Given the description of an element on the screen output the (x, y) to click on. 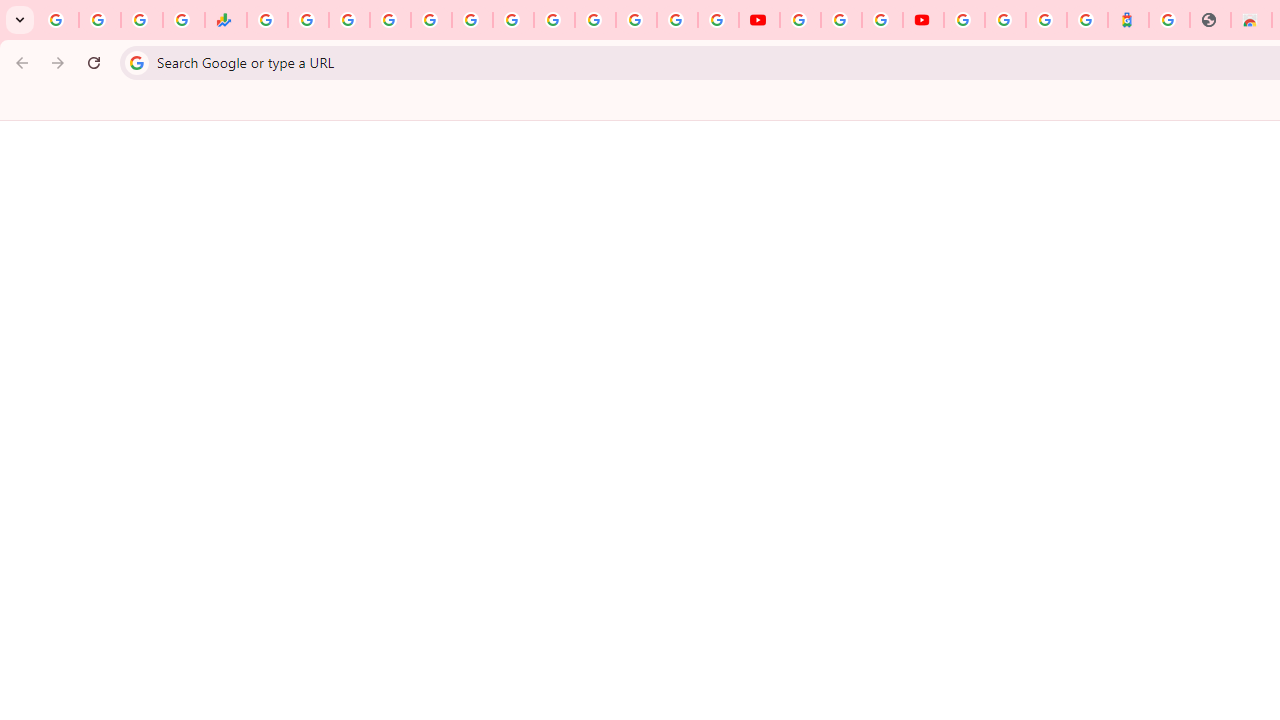
Sign in - Google Accounts (594, 20)
